Given the description of an element on the screen output the (x, y) to click on. 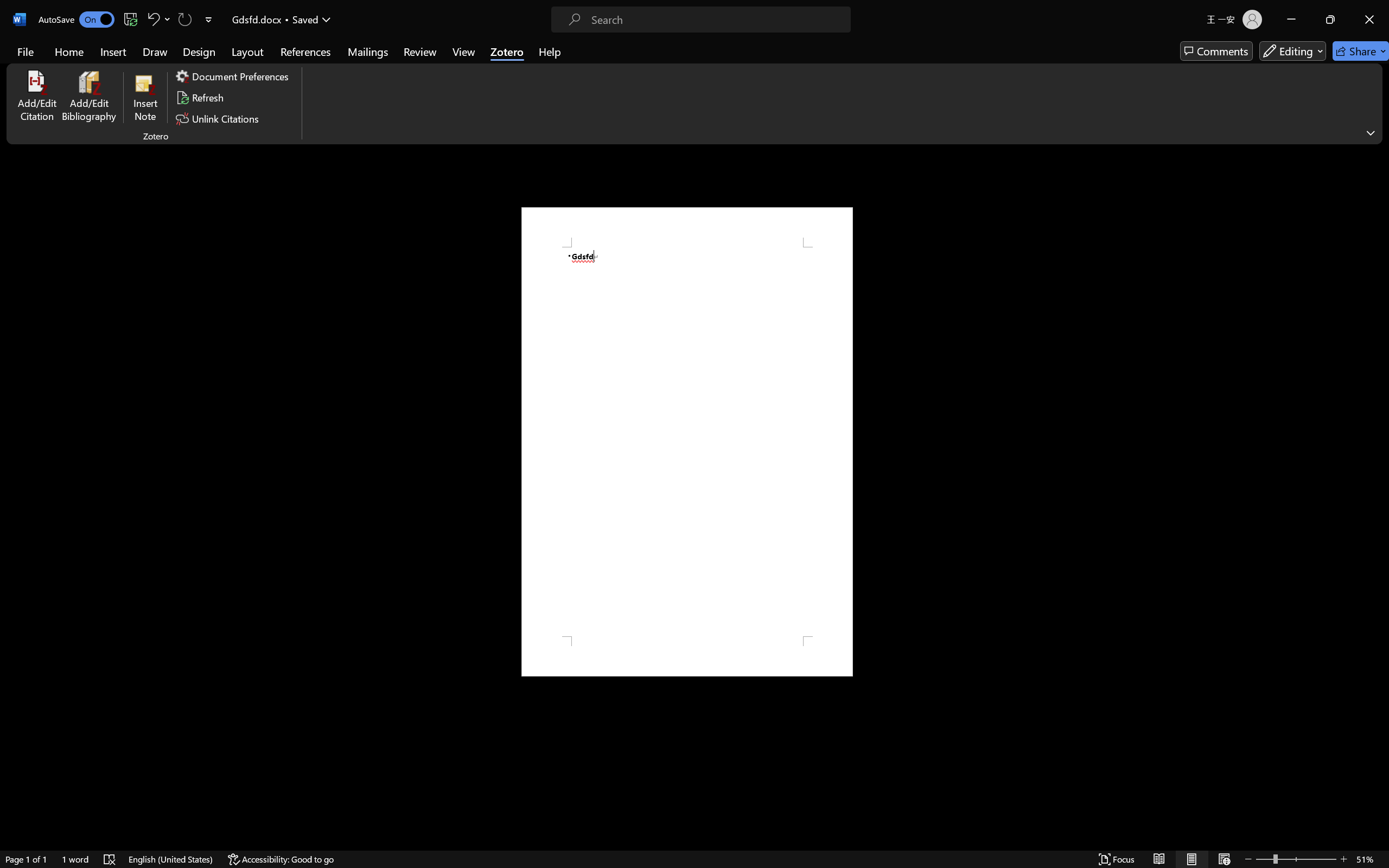
Page 1 content (686, 441)
